Given the description of an element on the screen output the (x, y) to click on. 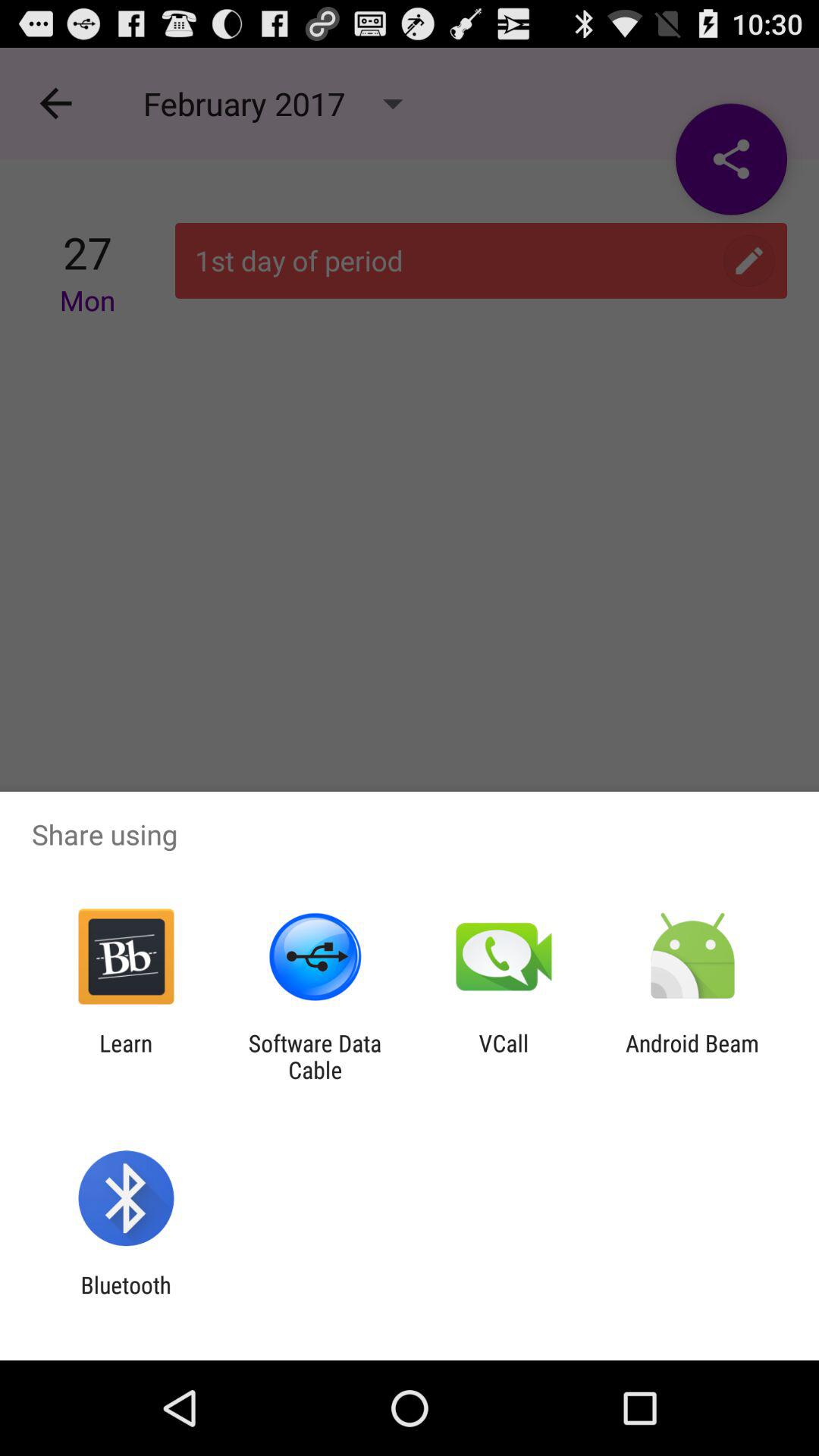
tap icon next to the software data cable item (125, 1056)
